Given the description of an element on the screen output the (x, y) to click on. 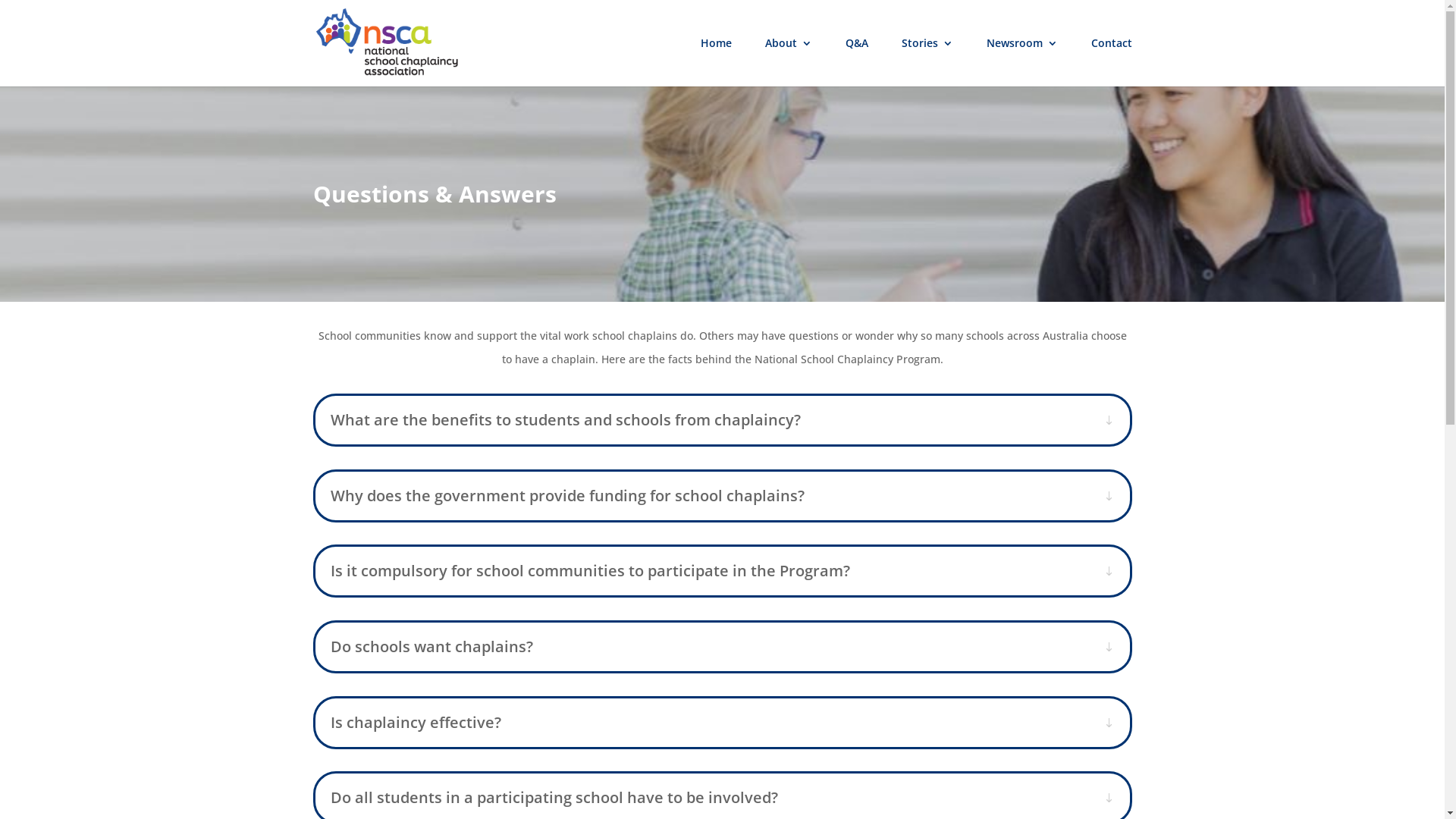
Contact Element type: text (1110, 61)
Stories Element type: text (926, 61)
Newsroom Element type: text (1021, 61)
Q&A Element type: text (855, 61)
About Element type: text (787, 61)
Home Element type: text (715, 61)
